Given the description of an element on the screen output the (x, y) to click on. 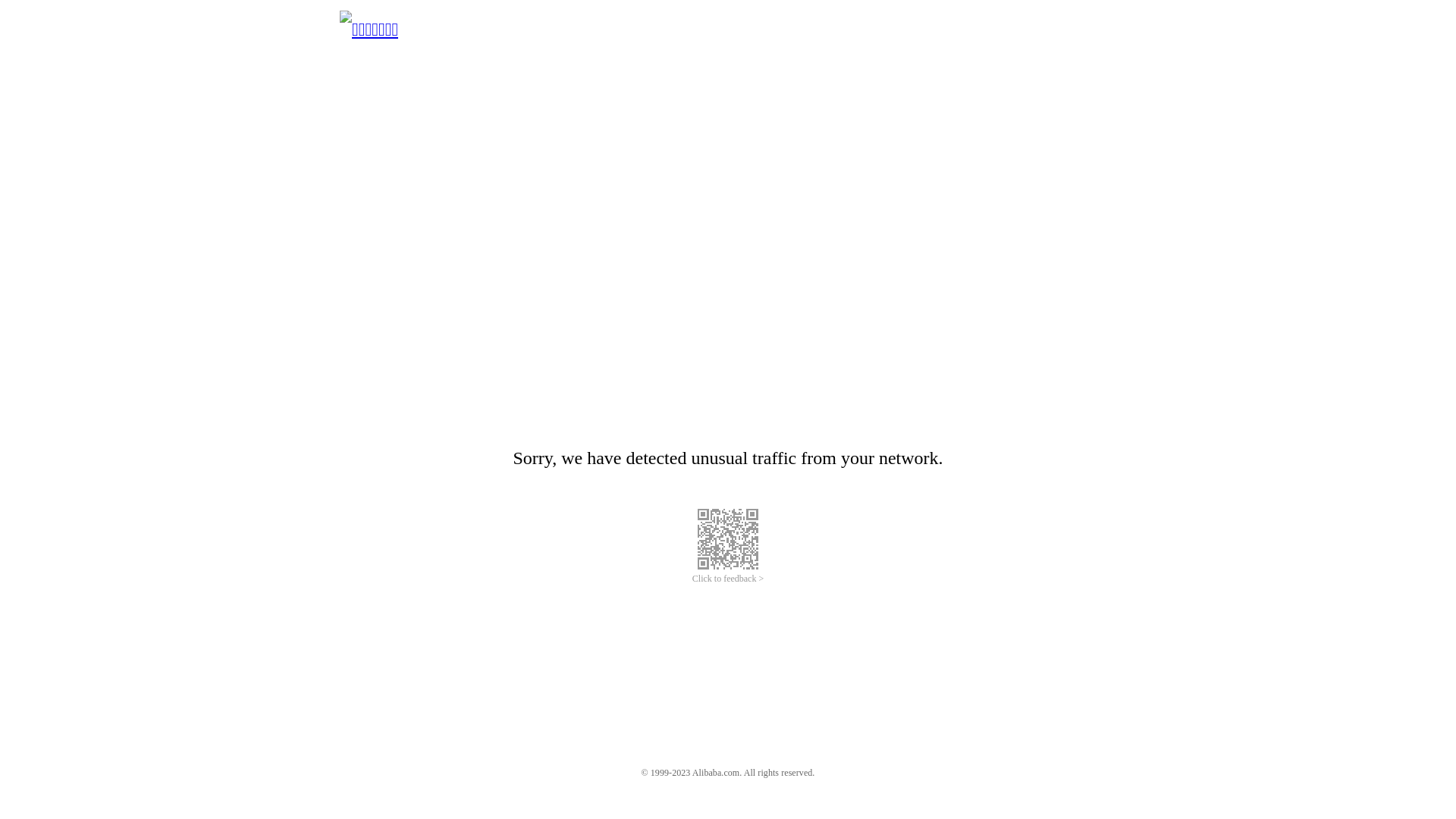
Click to feedback > Element type: text (727, 578)
